Given the description of an element on the screen output the (x, y) to click on. 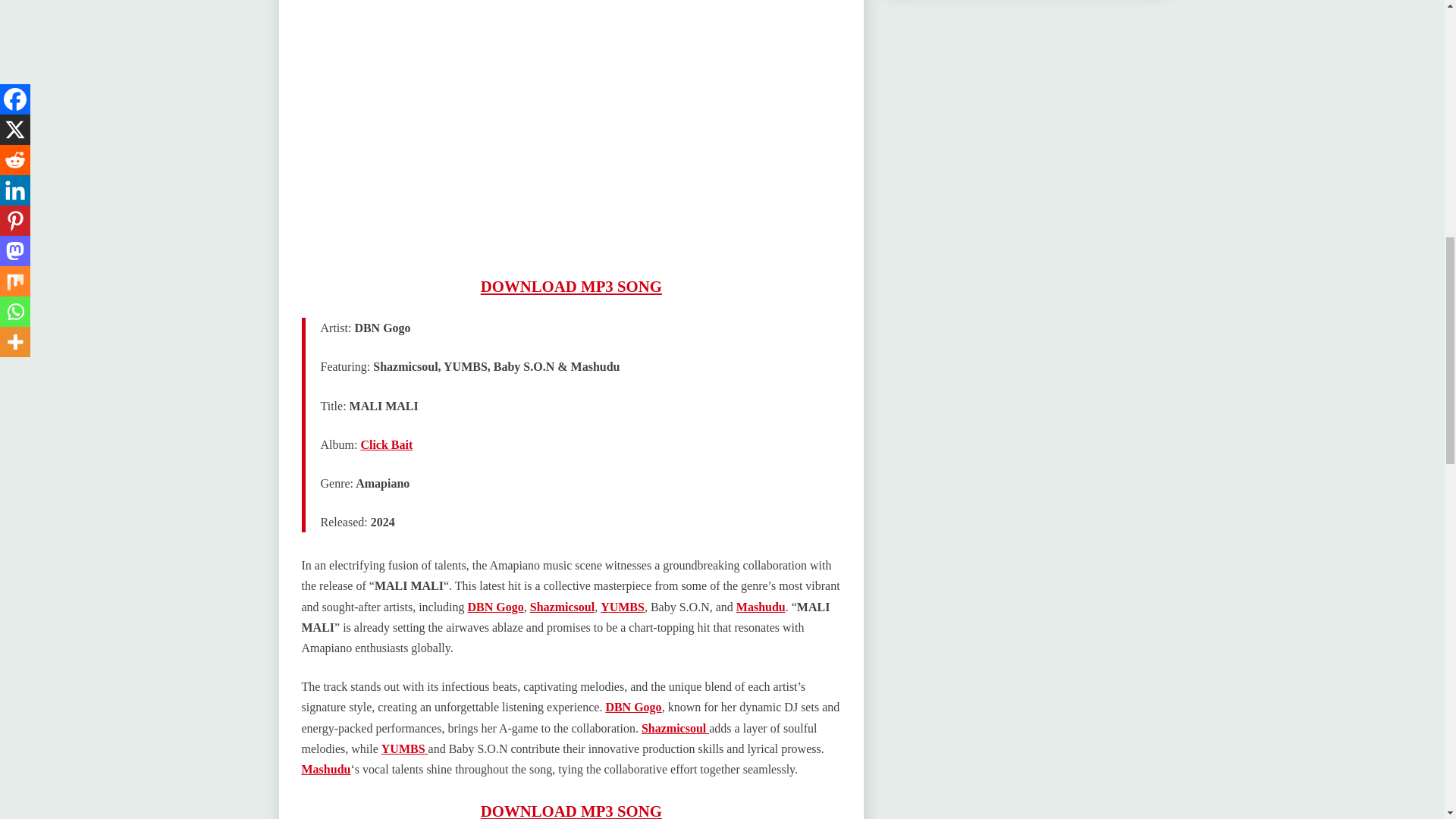
Click Bait (385, 444)
Mashudu (761, 606)
DOWNLOAD MP3 SONG (571, 285)
DBN Gogo (633, 707)
YUMBS (622, 606)
DBN Gogo (495, 606)
Shazmicsoul (561, 606)
